Given the description of an element on the screen output the (x, y) to click on. 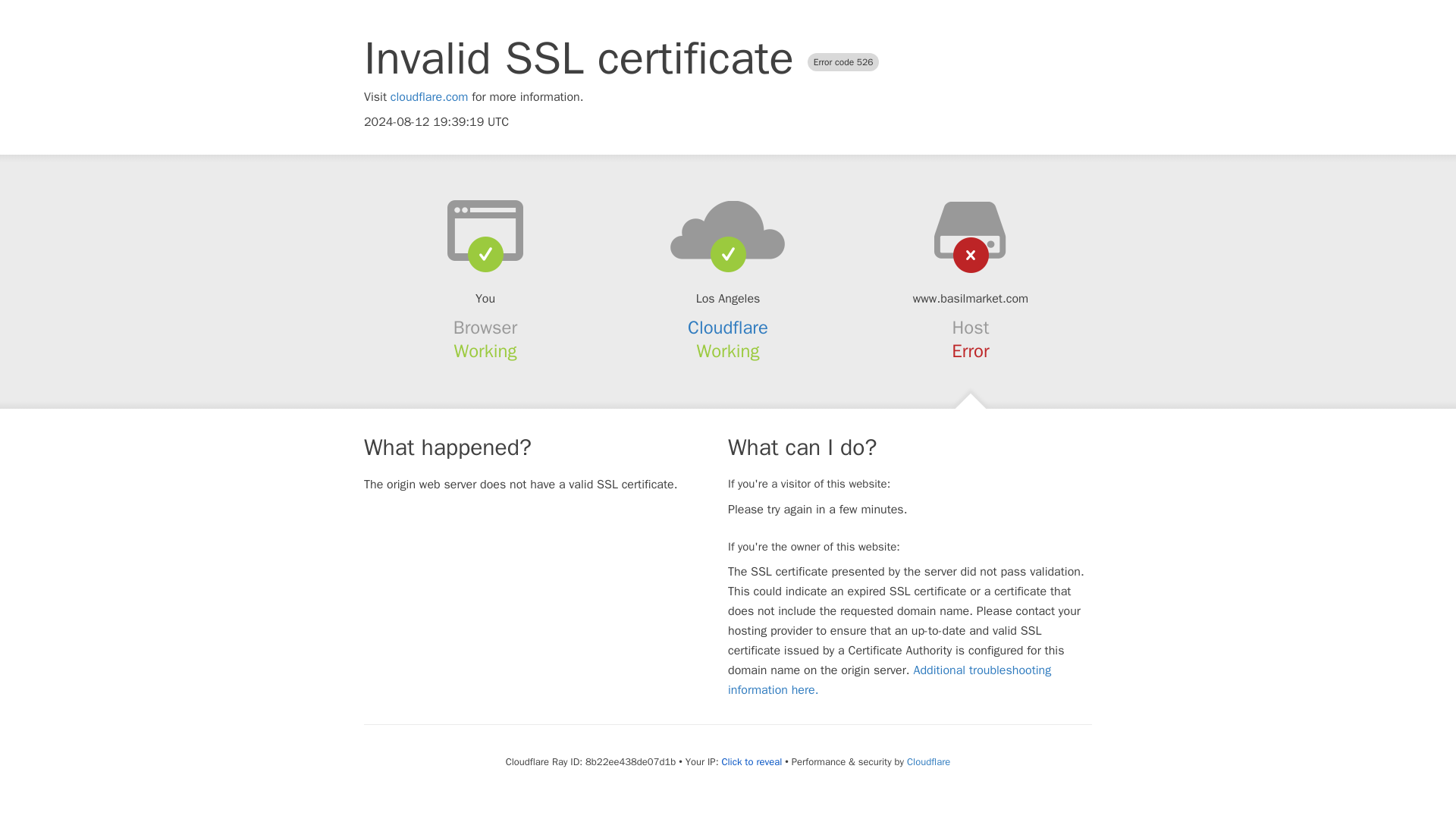
Click to reveal (750, 762)
cloudflare.com (429, 96)
Additional troubleshooting information here. (889, 679)
Cloudflare (727, 327)
Cloudflare (928, 761)
